Given the description of an element on the screen output the (x, y) to click on. 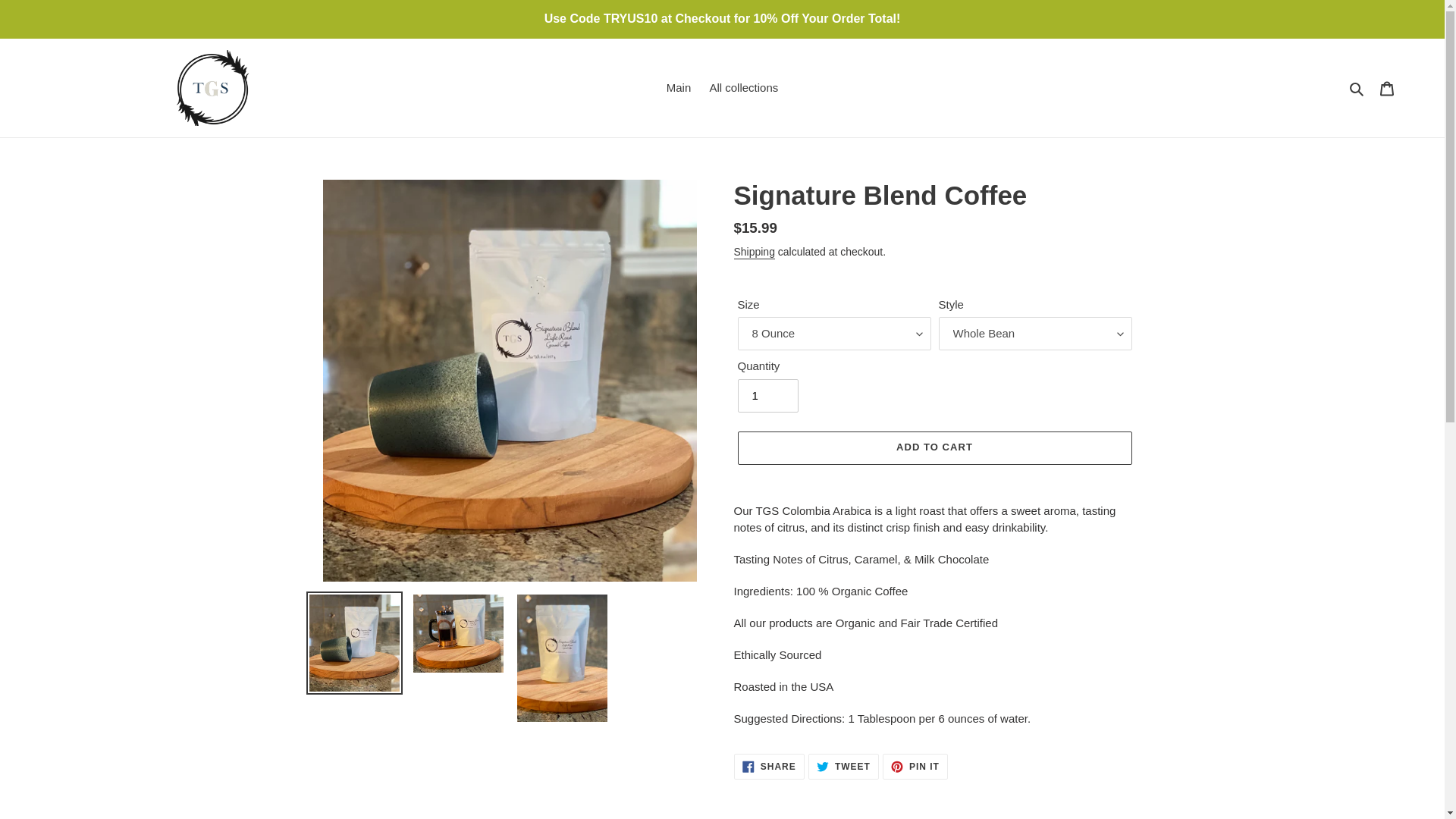
1 (769, 766)
Search (766, 395)
ADD TO CART (1357, 87)
Cart (933, 448)
Shipping (1387, 88)
All collections (914, 766)
Main (753, 252)
